Given the description of an element on the screen output the (x, y) to click on. 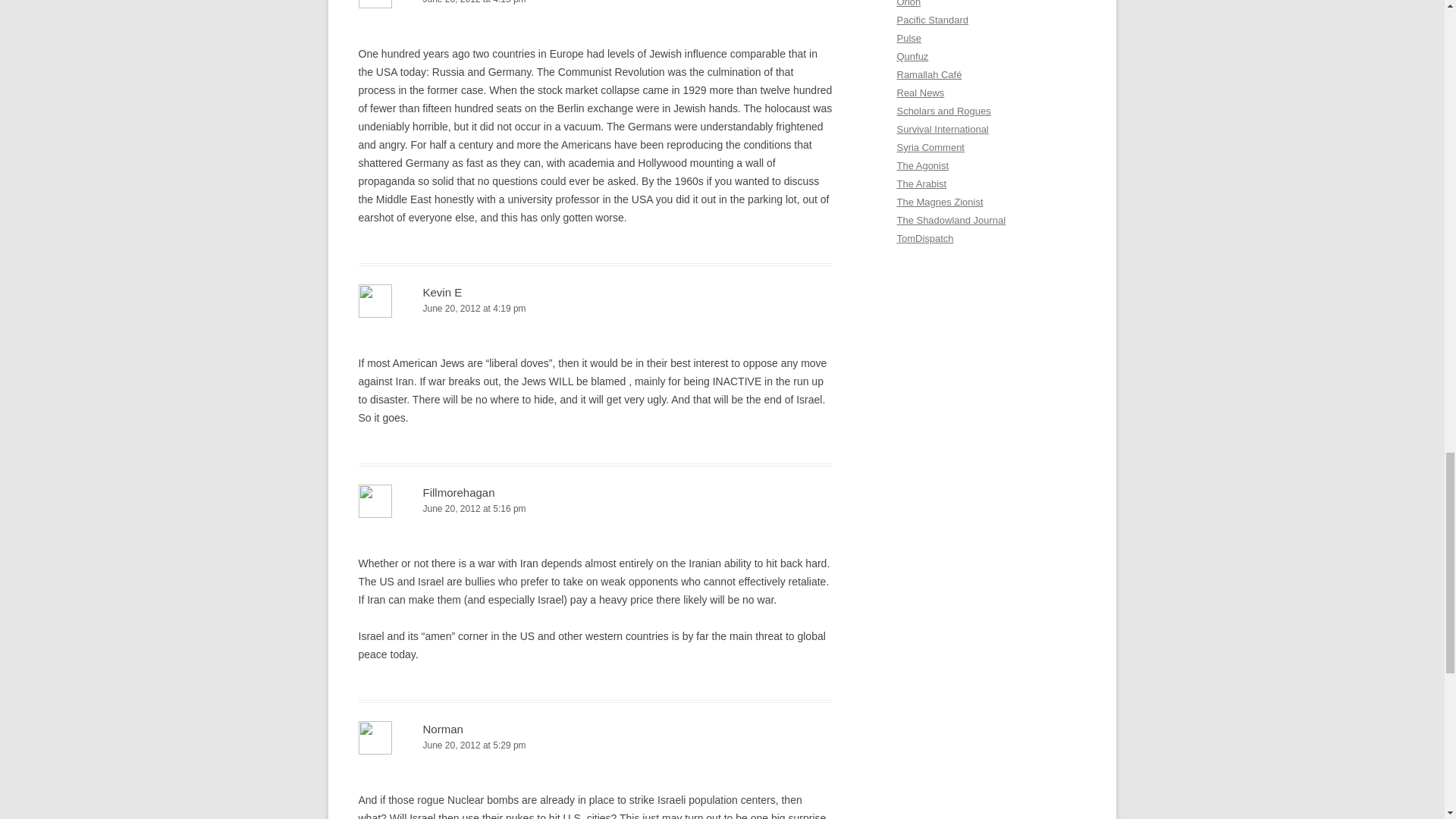
June 20, 2012 at 4:15 pm (594, 3)
The Real News Network (919, 92)
June 20, 2012 at 5:16 pm (594, 508)
June 20, 2012 at 5:29 pm (594, 745)
June 20, 2012 at 4:19 pm (594, 308)
